Given the description of an element on the screen output the (x, y) to click on. 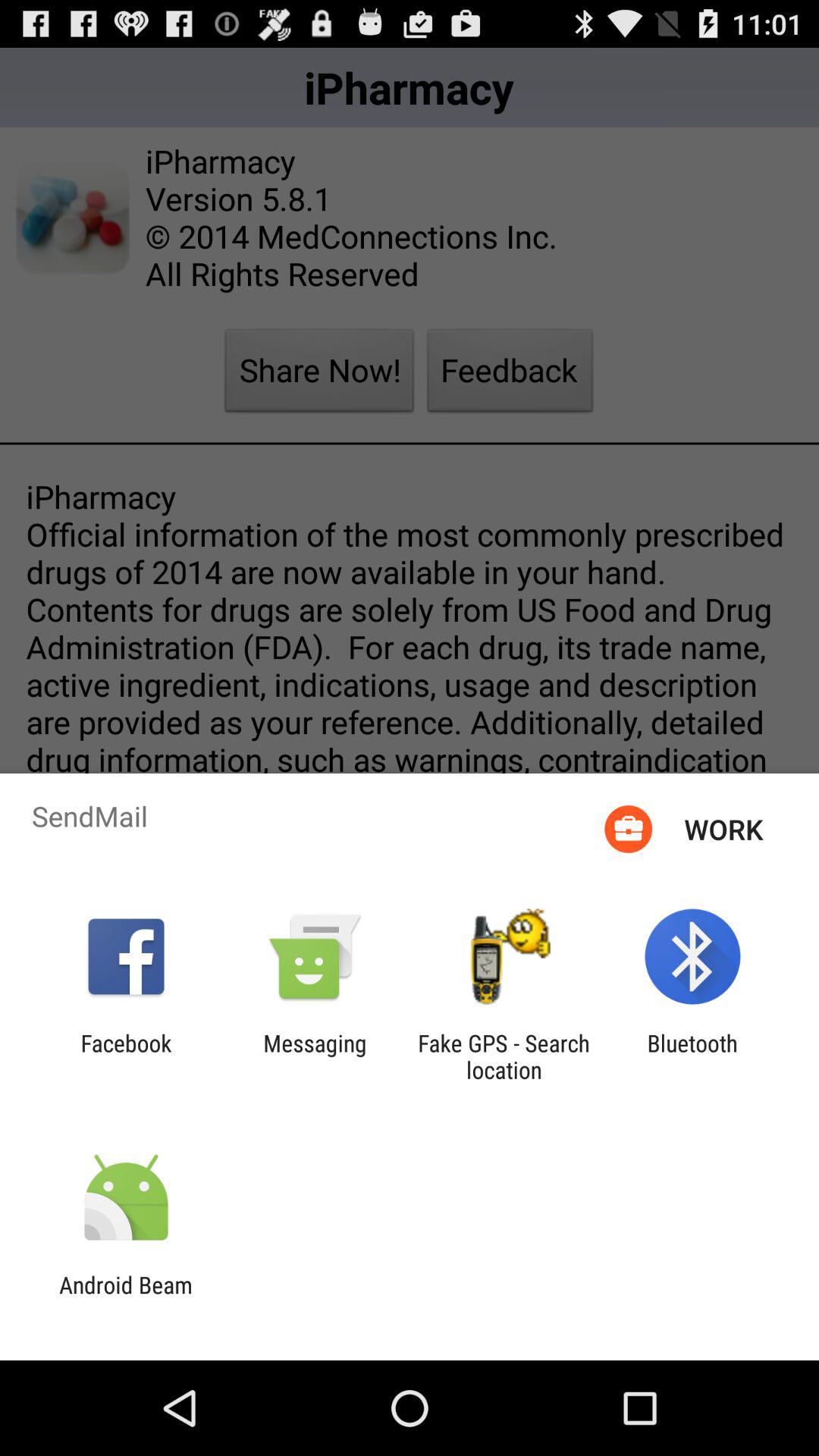
launch app to the right of the messaging (503, 1056)
